Given the description of an element on the screen output the (x, y) to click on. 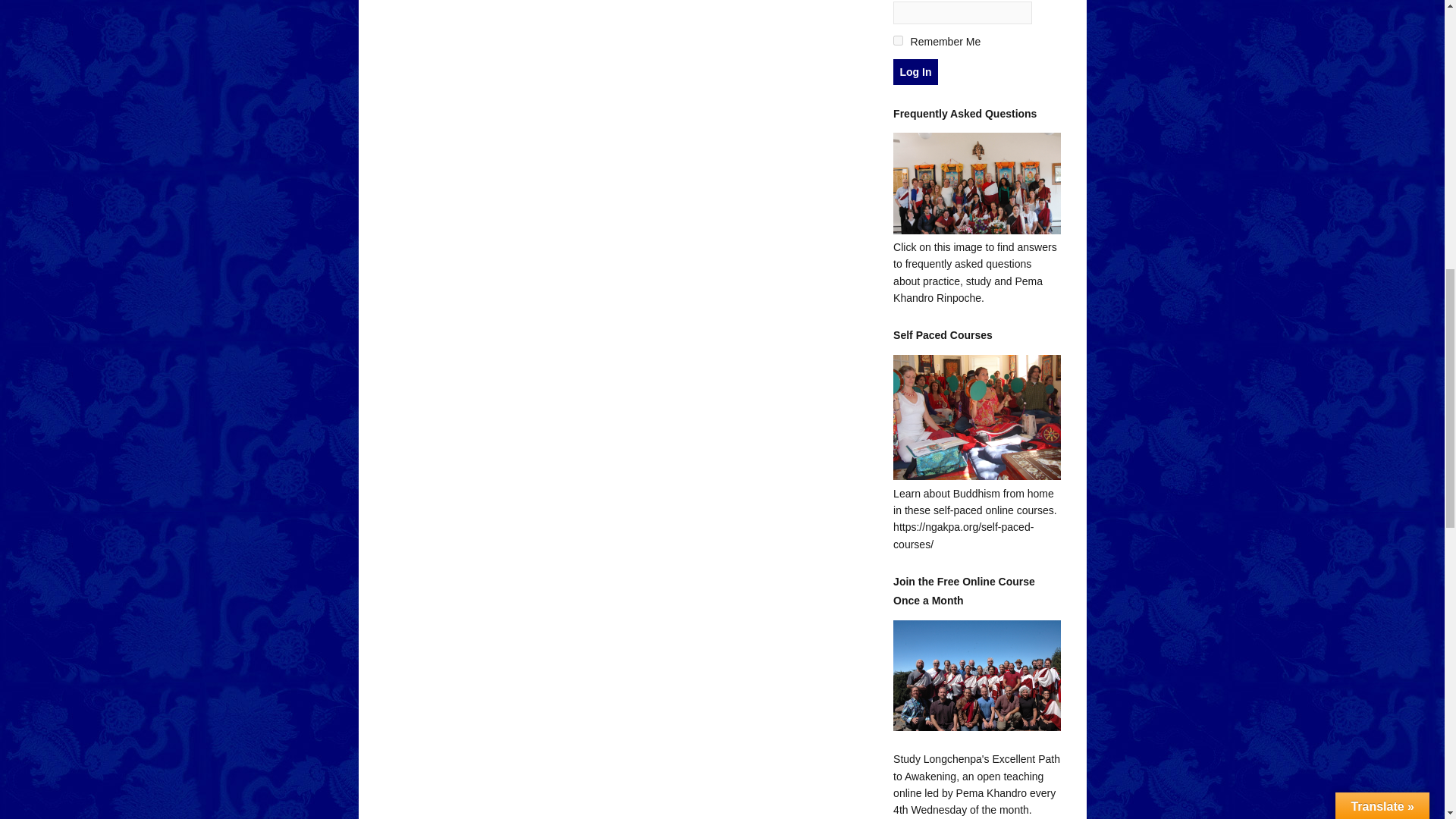
Frequently Asked Questions (977, 230)
Join the Free Online Course Once a Month (977, 675)
Self Paced Courses (977, 476)
Log In (915, 71)
forever (897, 40)
